Given the description of an element on the screen output the (x, y) to click on. 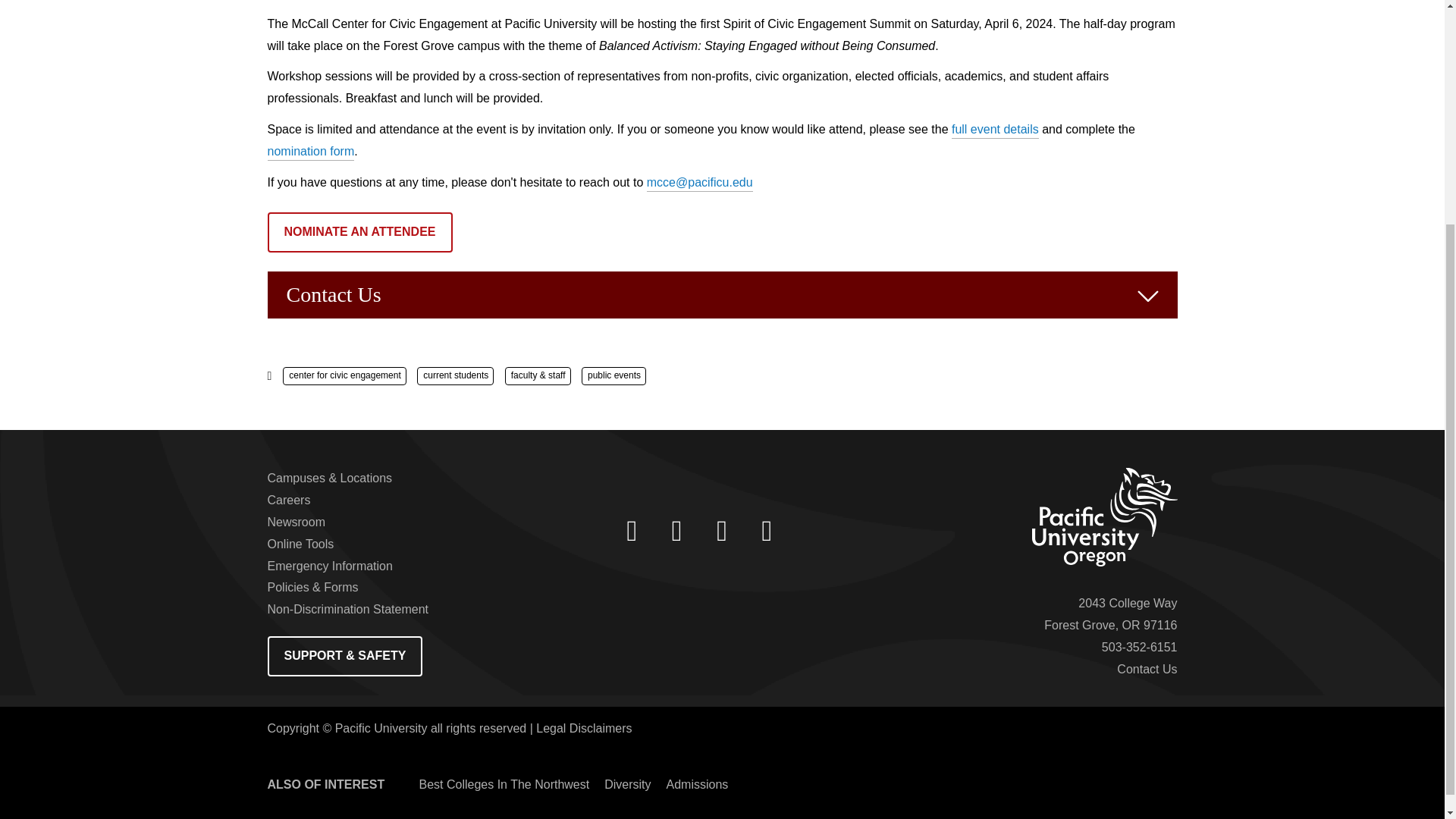
NOMINATE AN ATTENDEE (358, 232)
nomination form (309, 152)
full event details (995, 130)
